Given the description of an element on the screen output the (x, y) to click on. 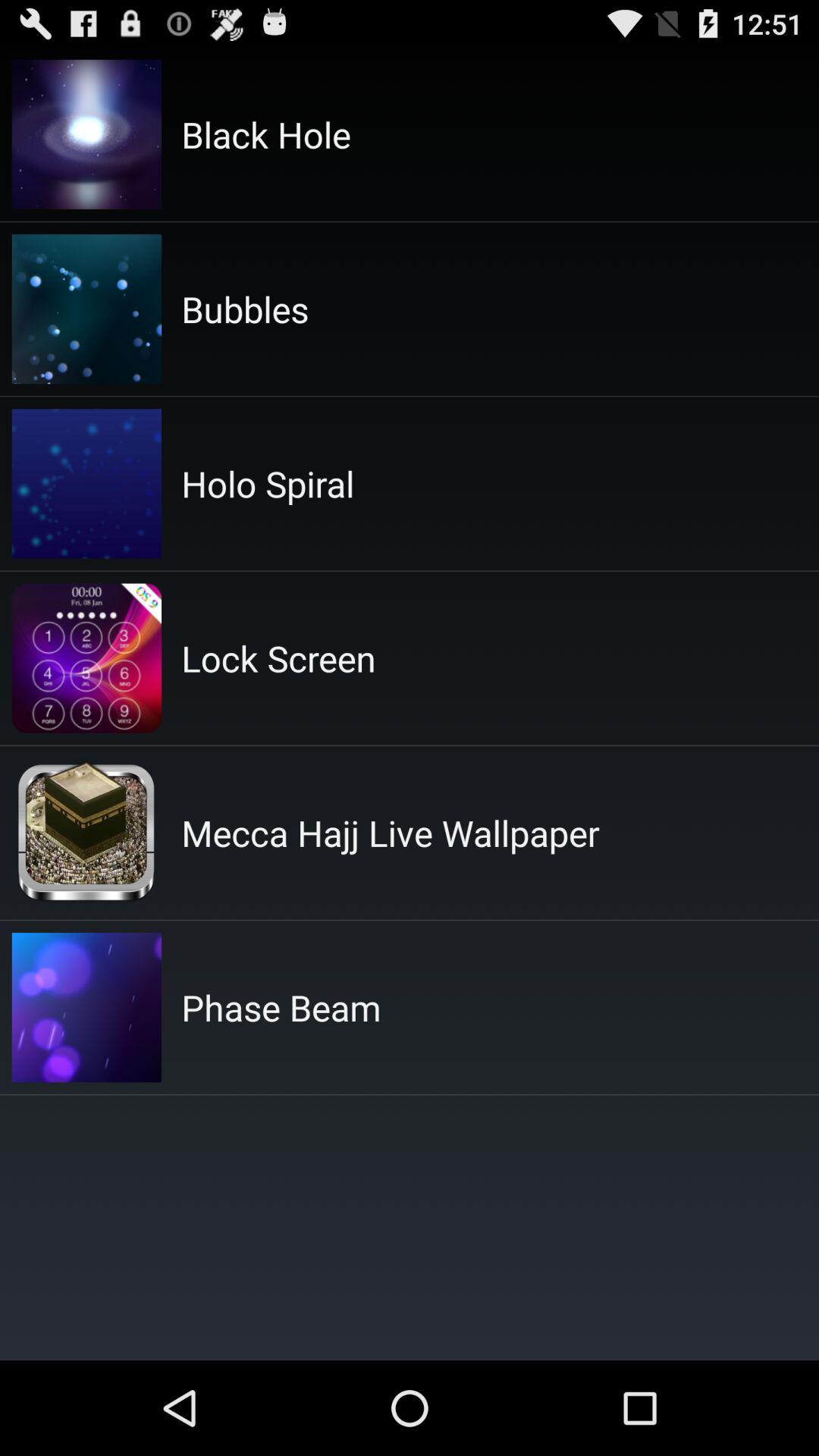
turn on the icon at the bottom (281, 1007)
